Given the description of an element on the screen output the (x, y) to click on. 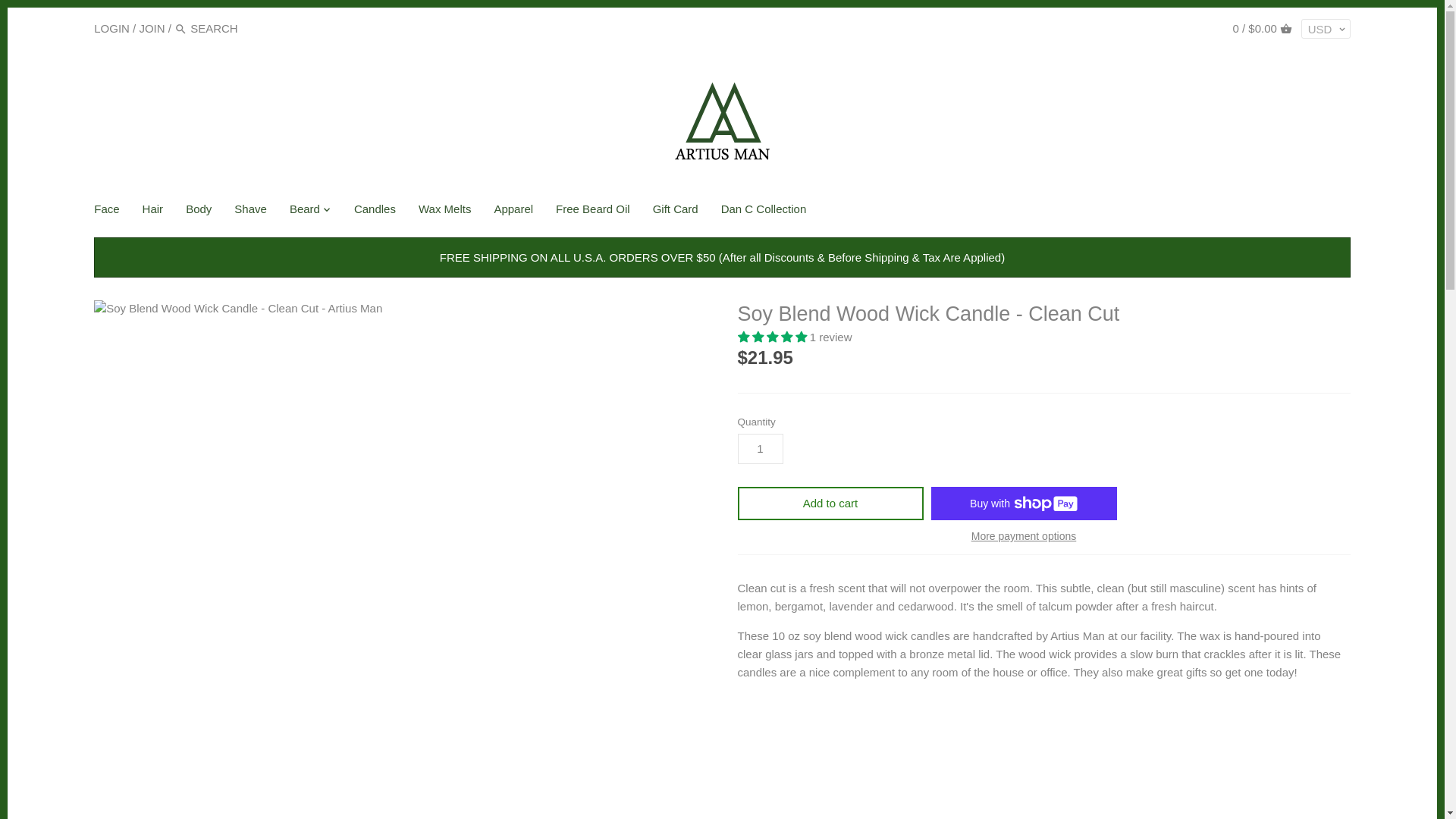
Apparel (512, 211)
Candles (374, 211)
Search (180, 29)
Face (112, 211)
Body (198, 211)
1 (759, 449)
More payment options (1023, 536)
Wax Melts (444, 211)
Dan C Collection (764, 211)
LOGIN (111, 27)
Shave (250, 211)
Free Beard Oil (593, 211)
Hair (152, 211)
Gift Card (676, 211)
JOIN (151, 27)
